Given the description of an element on the screen output the (x, y) to click on. 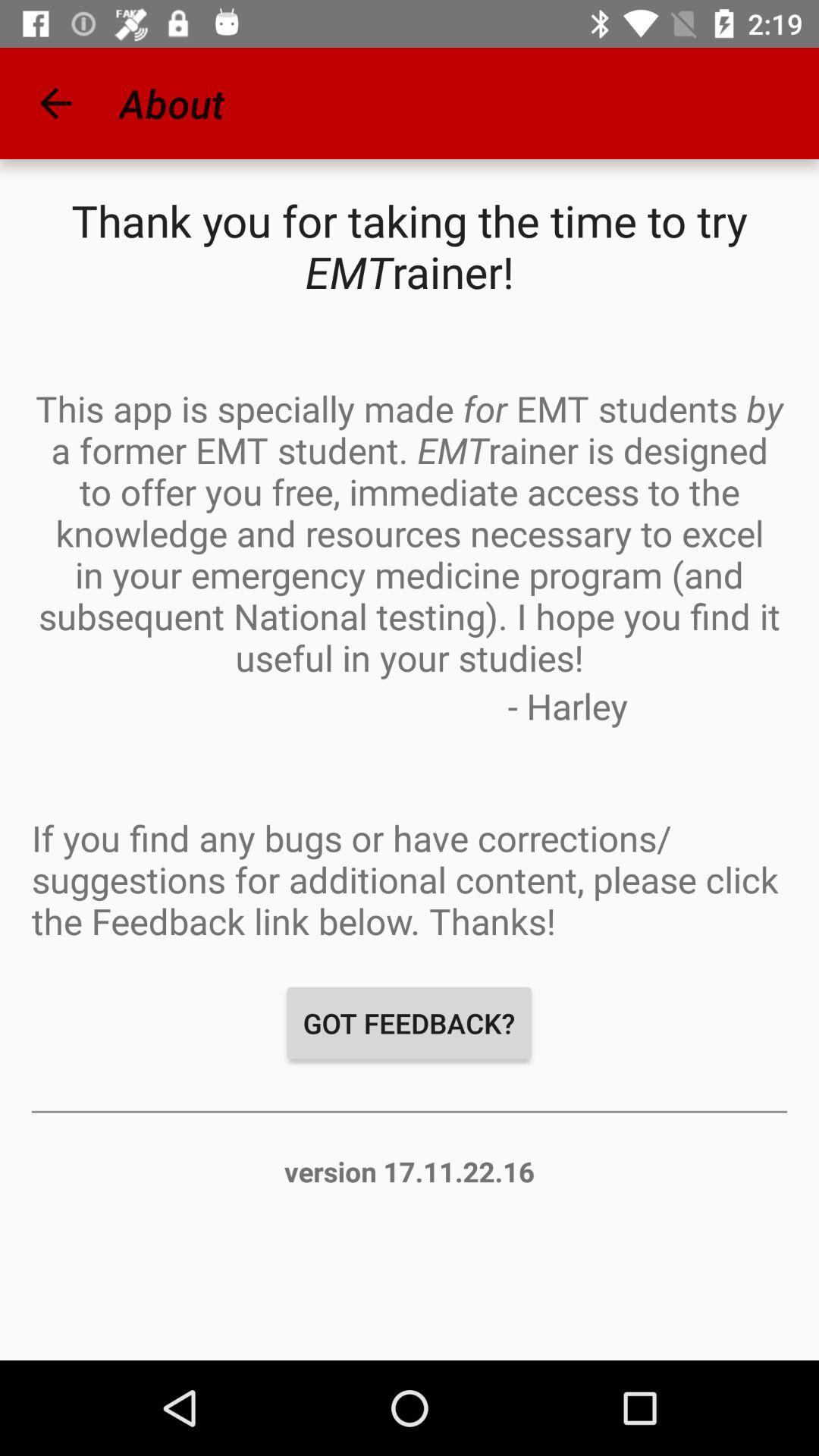
launch icon next to about app (55, 103)
